Given the description of an element on the screen output the (x, y) to click on. 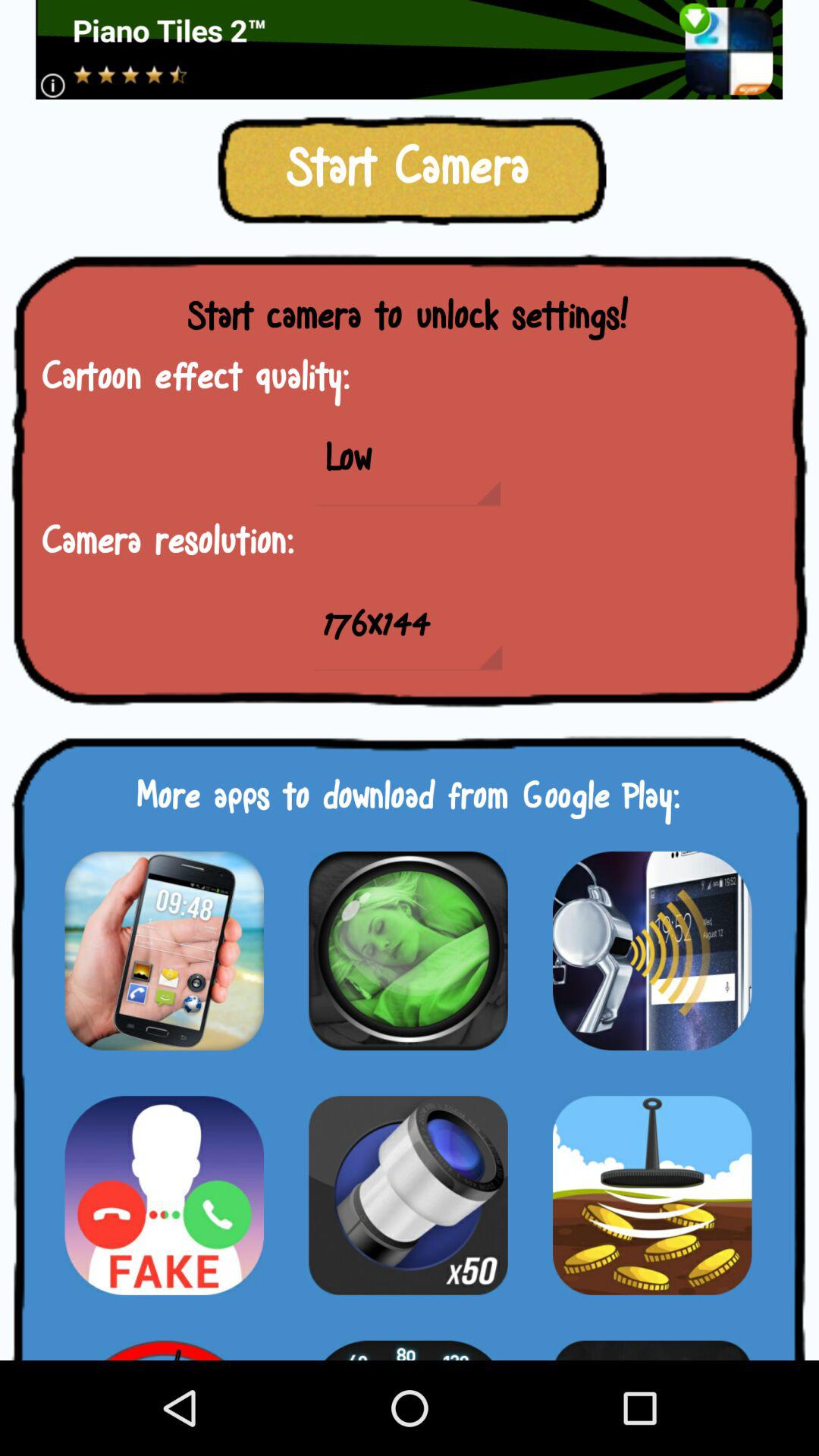
for image (164, 950)
